Given the description of an element on the screen output the (x, y) to click on. 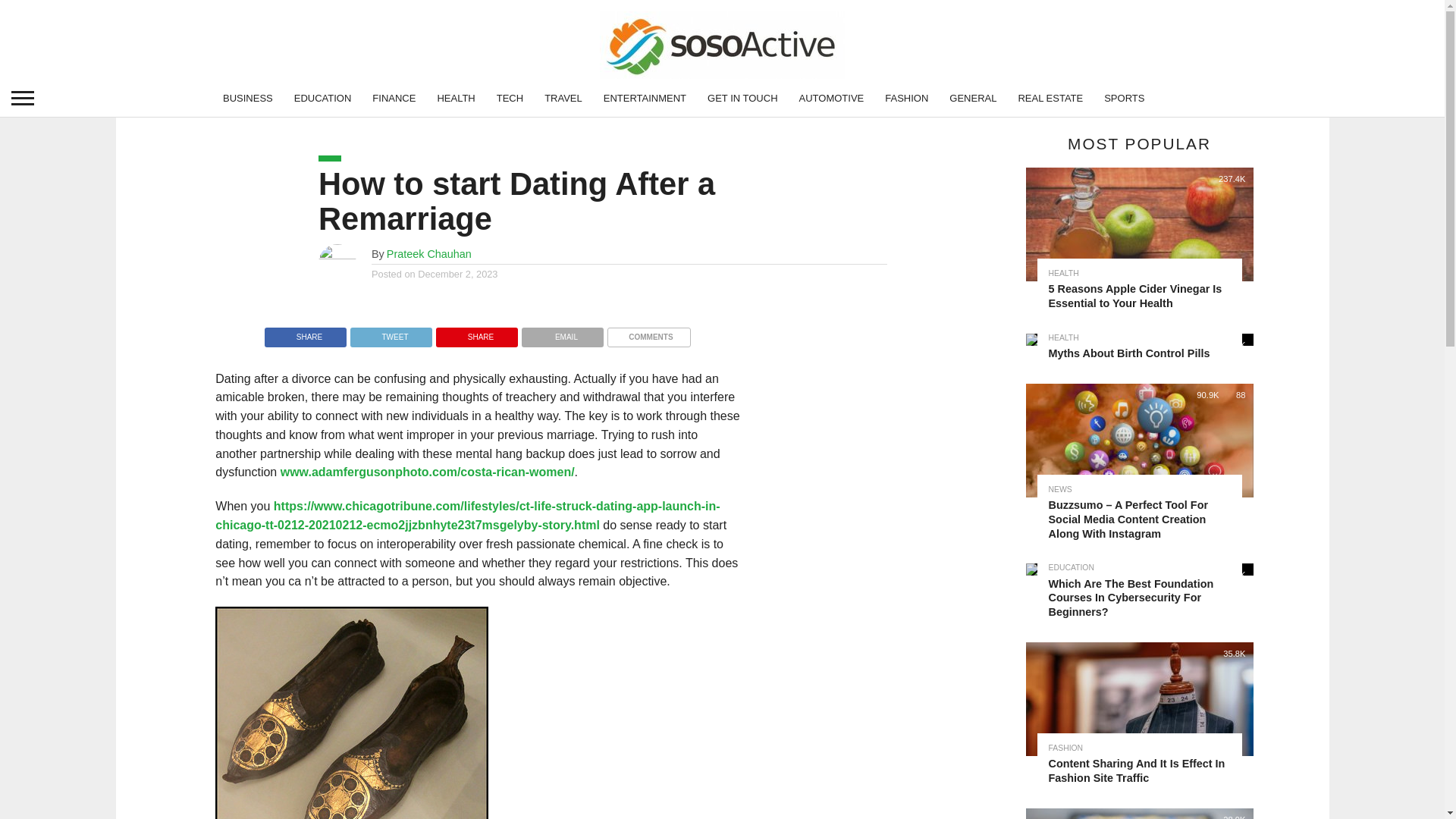
Prateek Chauhan (429, 253)
Share on Facebook (305, 332)
TWEET (390, 332)
HEALTH (455, 97)
GET IN TOUCH (742, 97)
COMMENTS (648, 332)
GENERAL (973, 97)
AUTOMOTIVE (832, 97)
EDUCATION (322, 97)
Tweet This Post (390, 332)
SPORTS (1123, 97)
BUSINESS (247, 97)
TRAVEL (563, 97)
FINANCE (393, 97)
ENTERTAINMENT (644, 97)
